Given the description of an element on the screen output the (x, y) to click on. 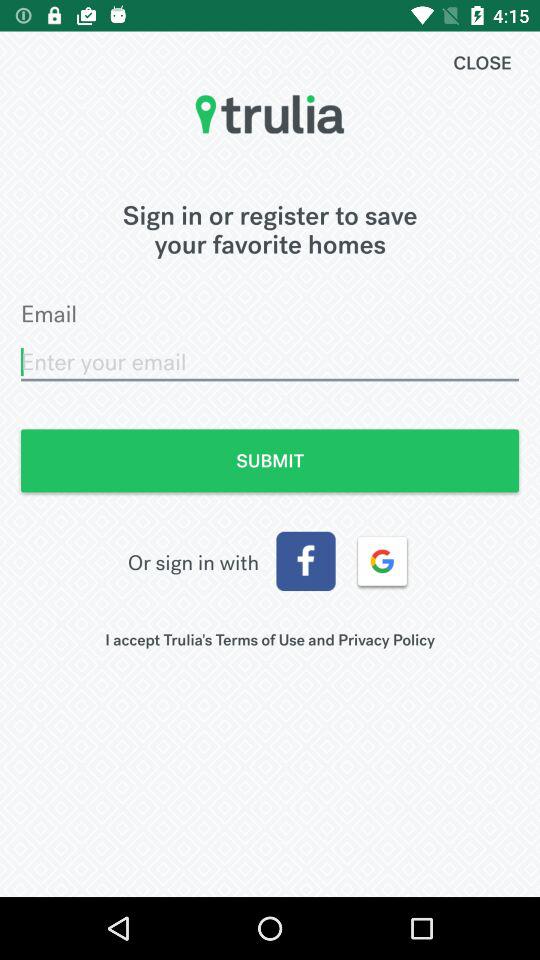
press the item to the right of or sign in icon (305, 561)
